Given the description of an element on the screen output the (x, y) to click on. 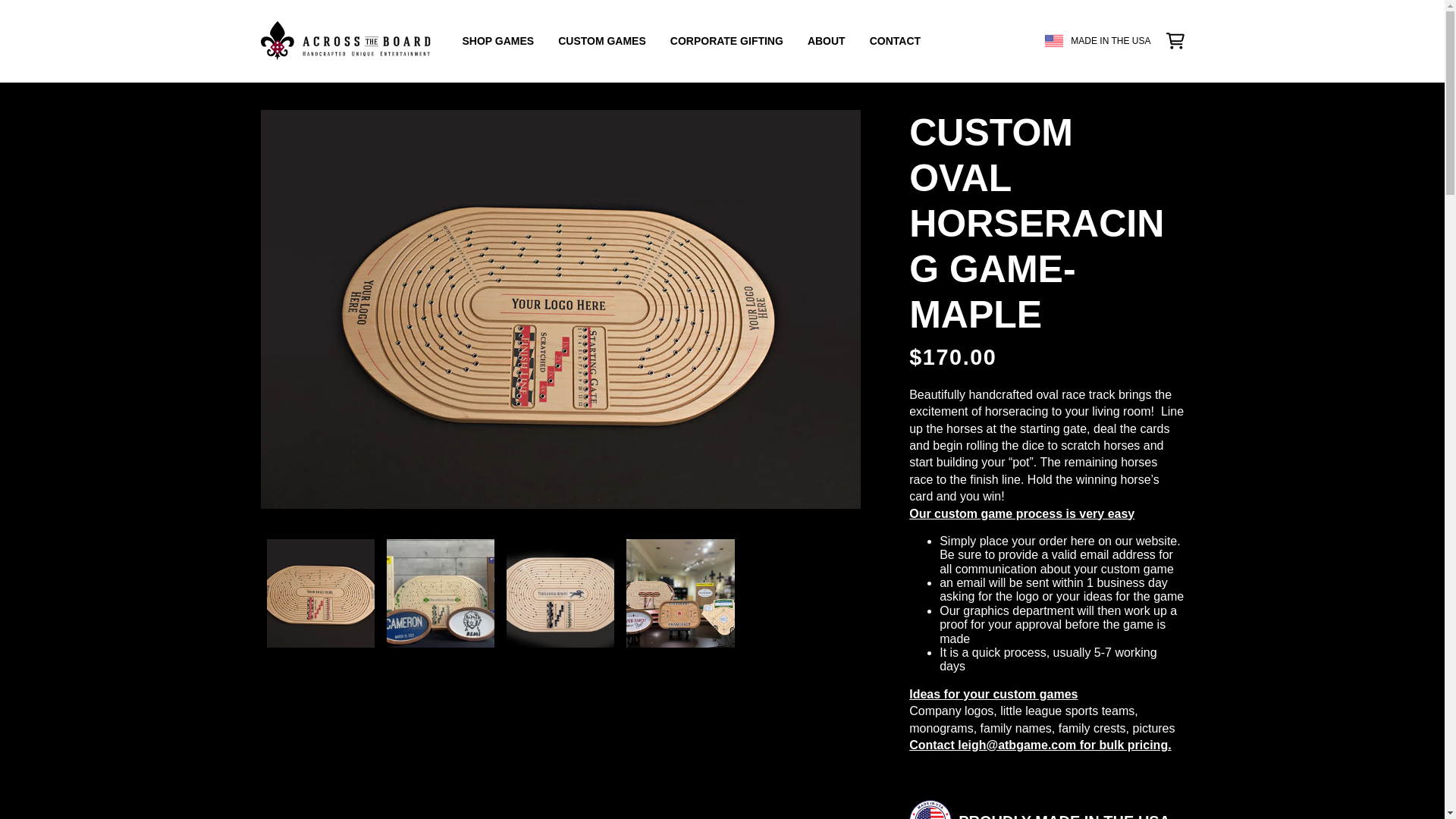
SKIP TO CONTENT (13, 6)
